Given the description of an element on the screen output the (x, y) to click on. 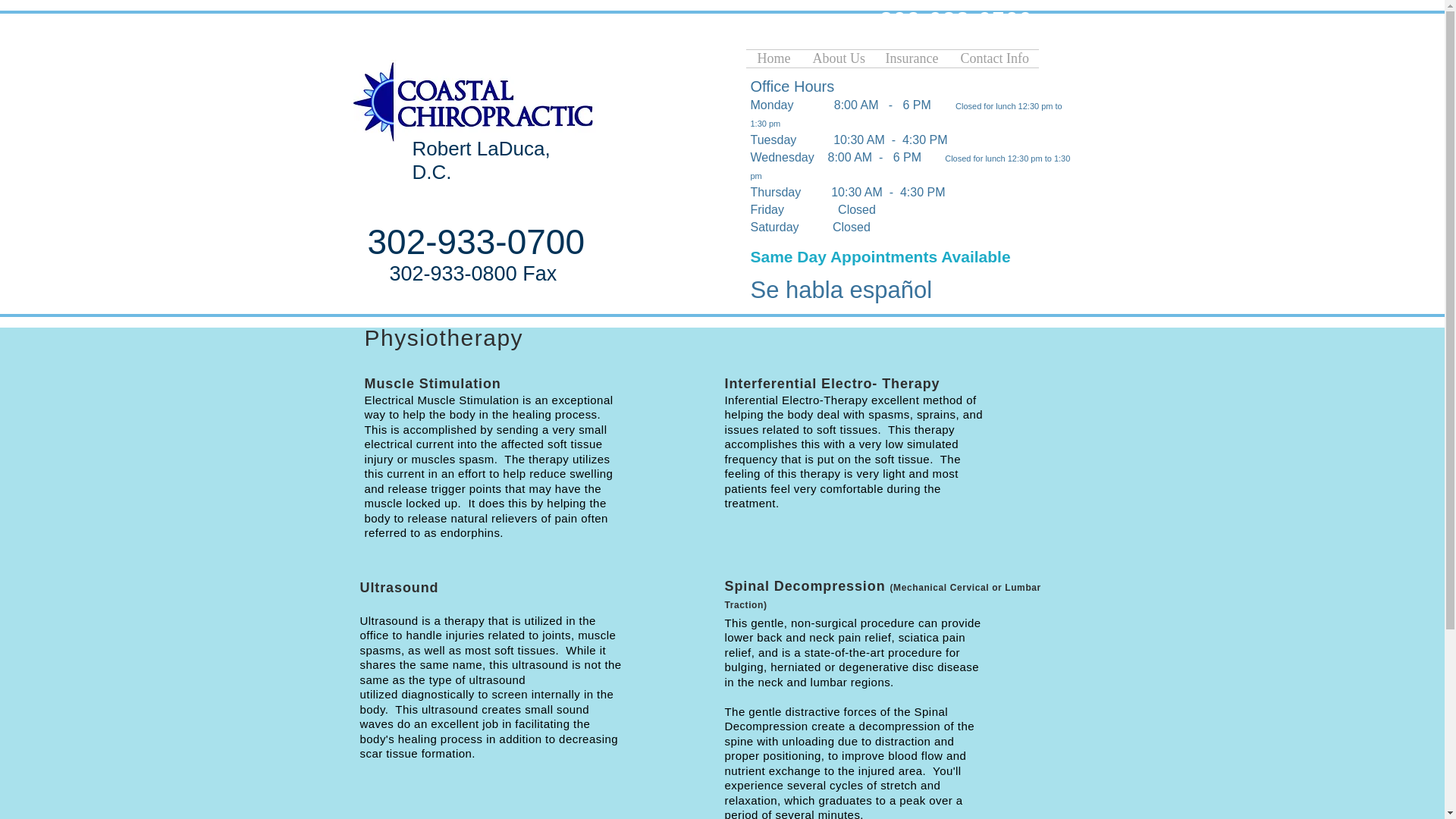
Insurance (911, 58)
Contact Info (994, 58)
About Us (836, 58)
Home (773, 58)
302-933-0700 (955, 19)
